Given the description of an element on the screen output the (x, y) to click on. 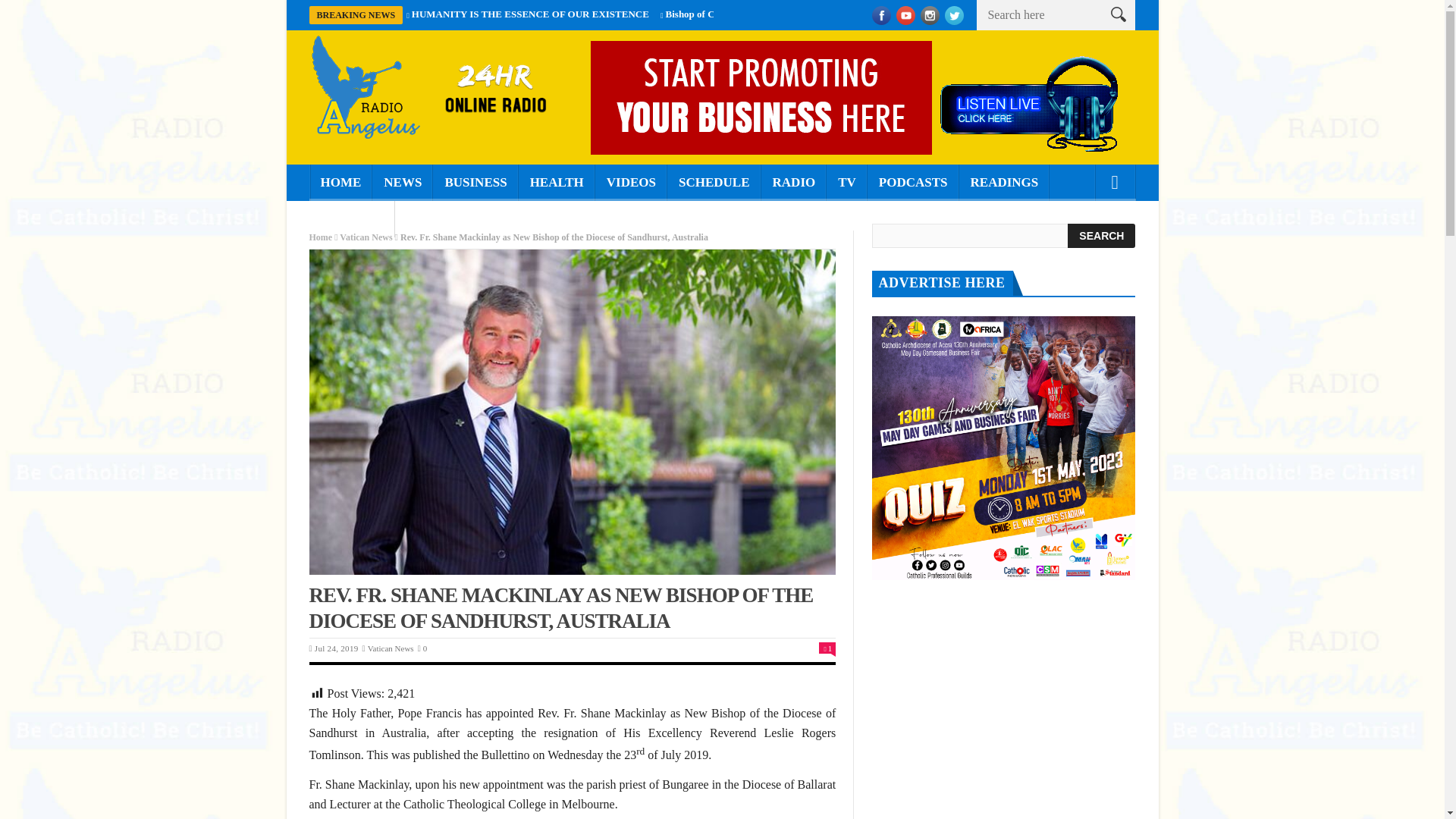
HOME (340, 182)
HUMANITY IS THE ESSENCE OF OUR EXISTENCE (530, 14)
BUSINESS (475, 182)
VIDEOS (630, 182)
Search (1101, 235)
NEWS (402, 182)
SCHEDULE (713, 182)
HEALTH (556, 182)
